Given the description of an element on the screen output the (x, y) to click on. 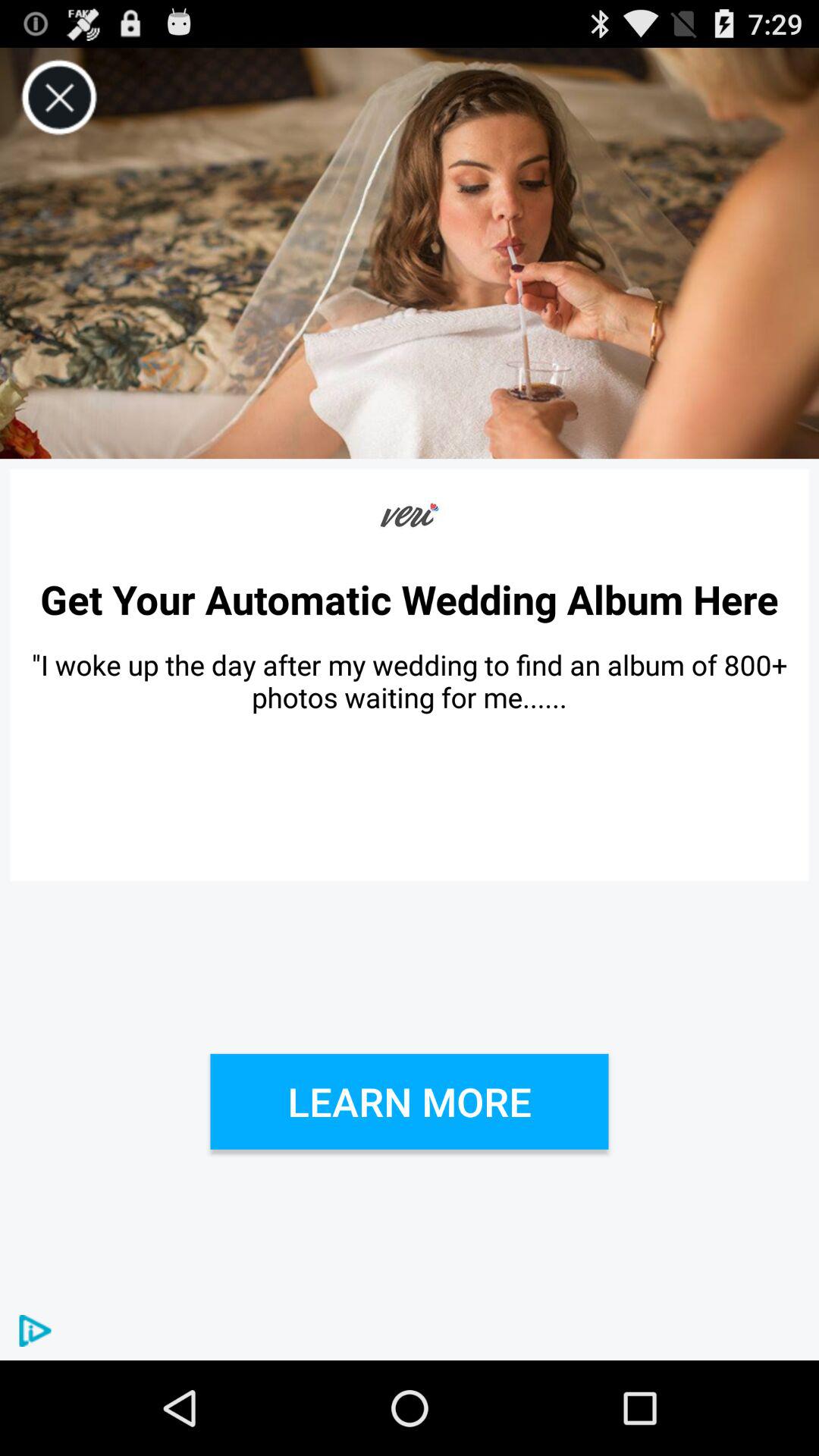
press icon above the i woke up app (409, 598)
